Given the description of an element on the screen output the (x, y) to click on. 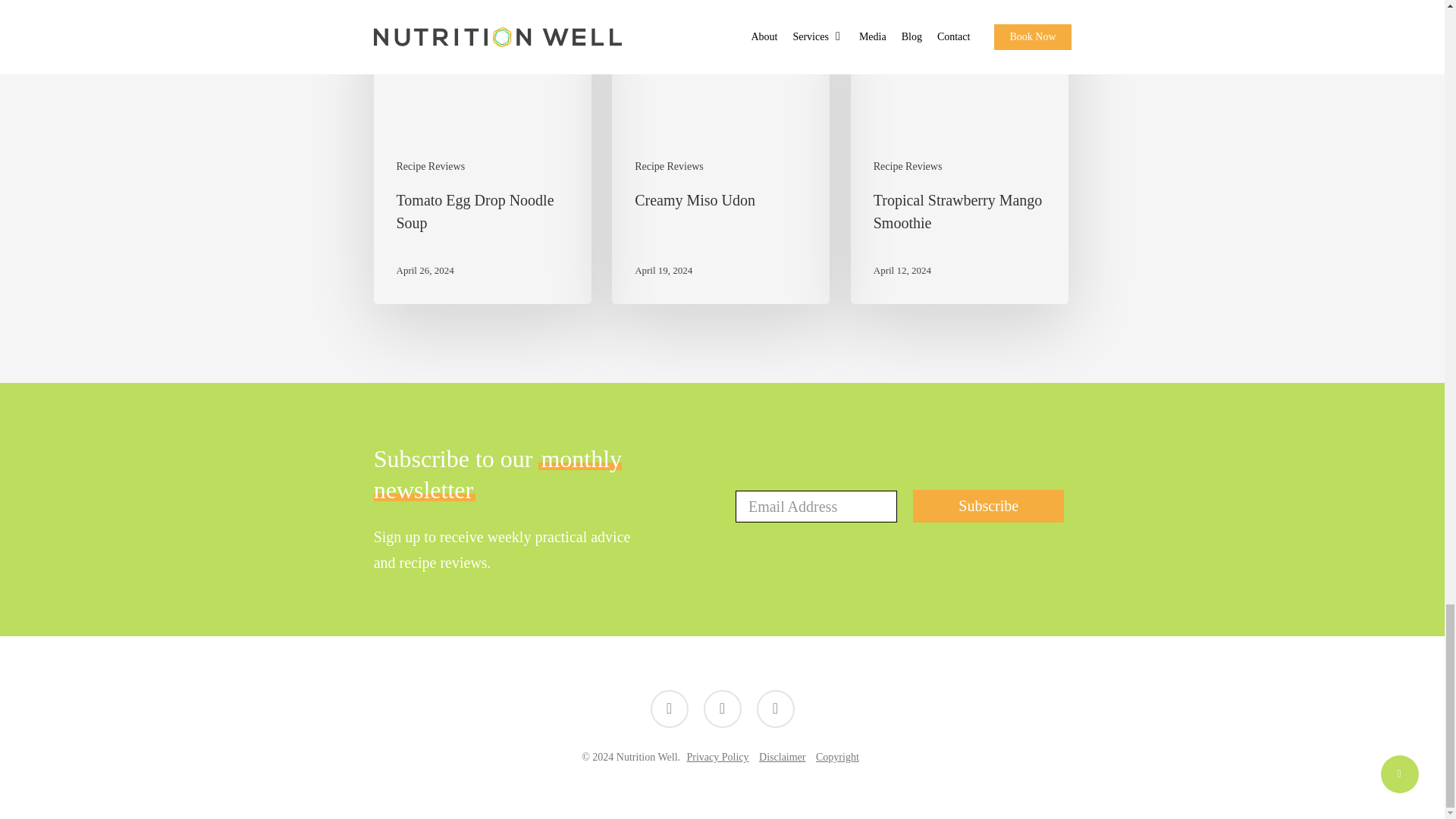
Subscribe (988, 505)
Recipe Reviews (668, 165)
Recipe Reviews (907, 165)
Subscribe (988, 505)
Recipe Reviews (430, 165)
